Given the description of an element on the screen output the (x, y) to click on. 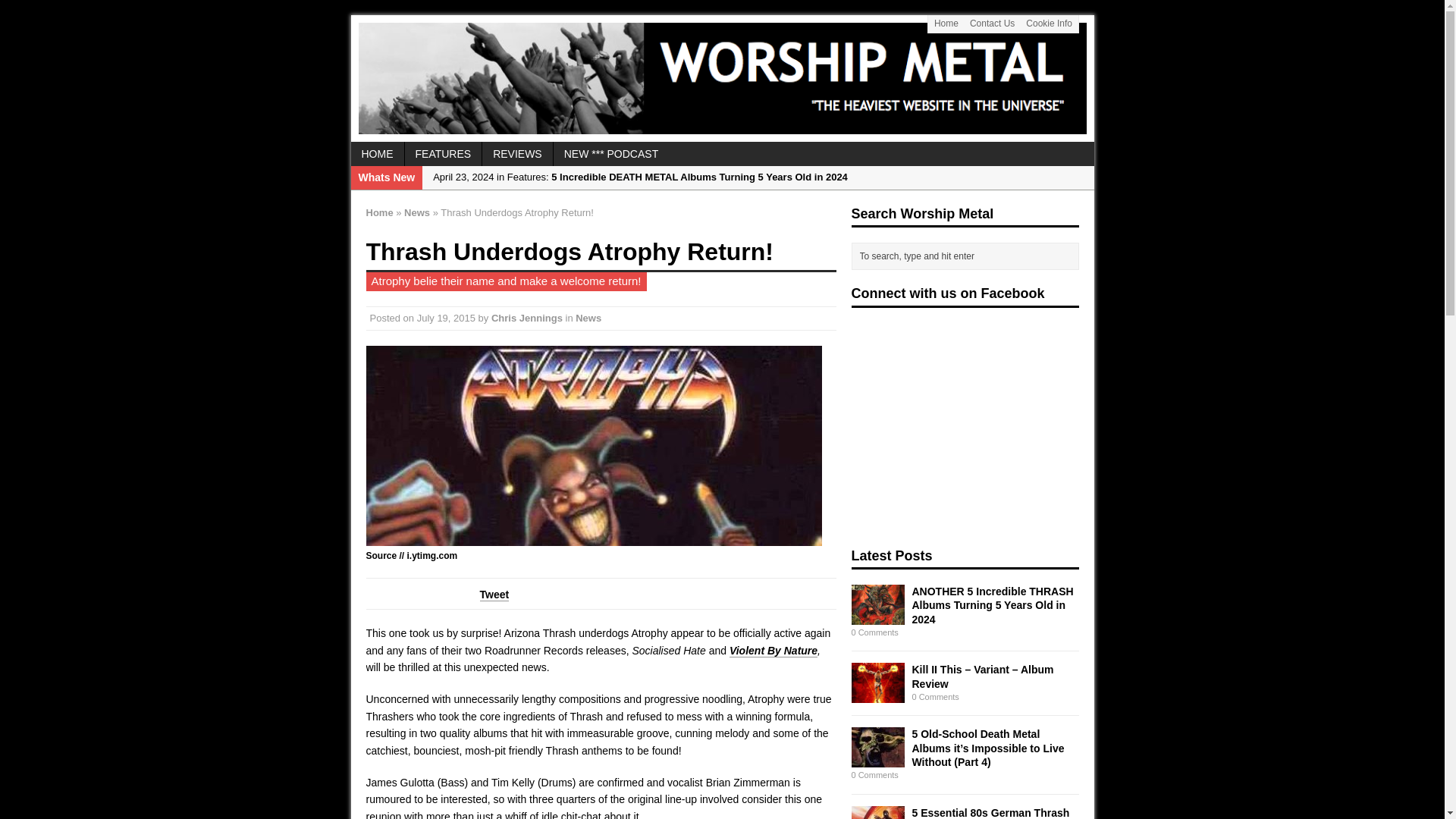
Home (945, 23)
News (416, 212)
FEATURES (442, 153)
Atrophy Socialized (593, 445)
Contact Us (991, 23)
Tweet (493, 594)
Worship Metal (721, 78)
To search, type and hit enter (968, 256)
5 Incredible DEATH METAL Albums Turning 5 Years Old in 2024 (757, 177)
Chris Jennings (527, 317)
Violent By Nature (772, 650)
Home (379, 212)
HOME (376, 153)
REVIEWS (517, 153)
